Given the description of an element on the screen output the (x, y) to click on. 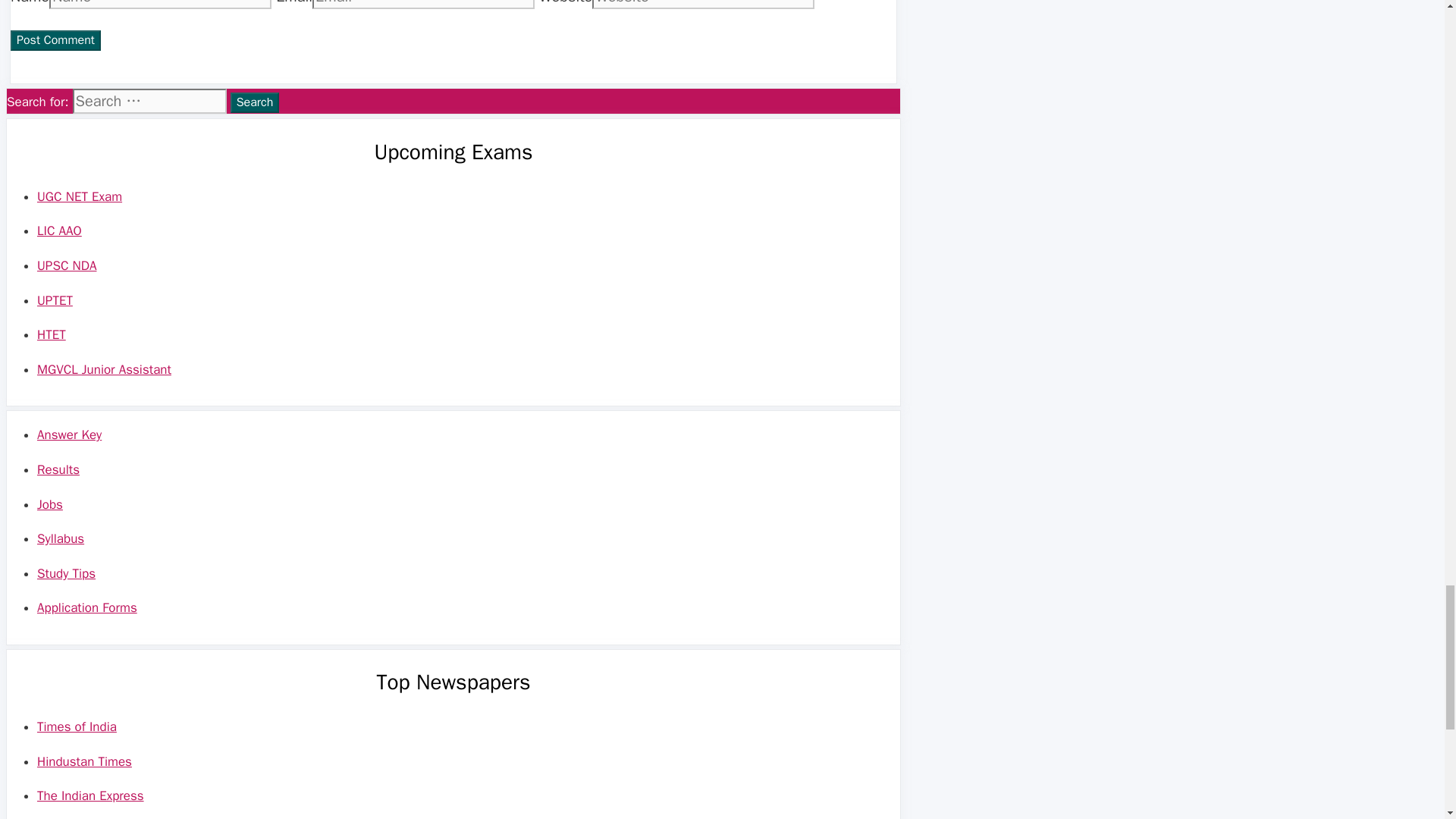
Search (254, 102)
Search (254, 102)
Post Comment (55, 40)
Search for: (149, 100)
